Given the description of an element on the screen output the (x, y) to click on. 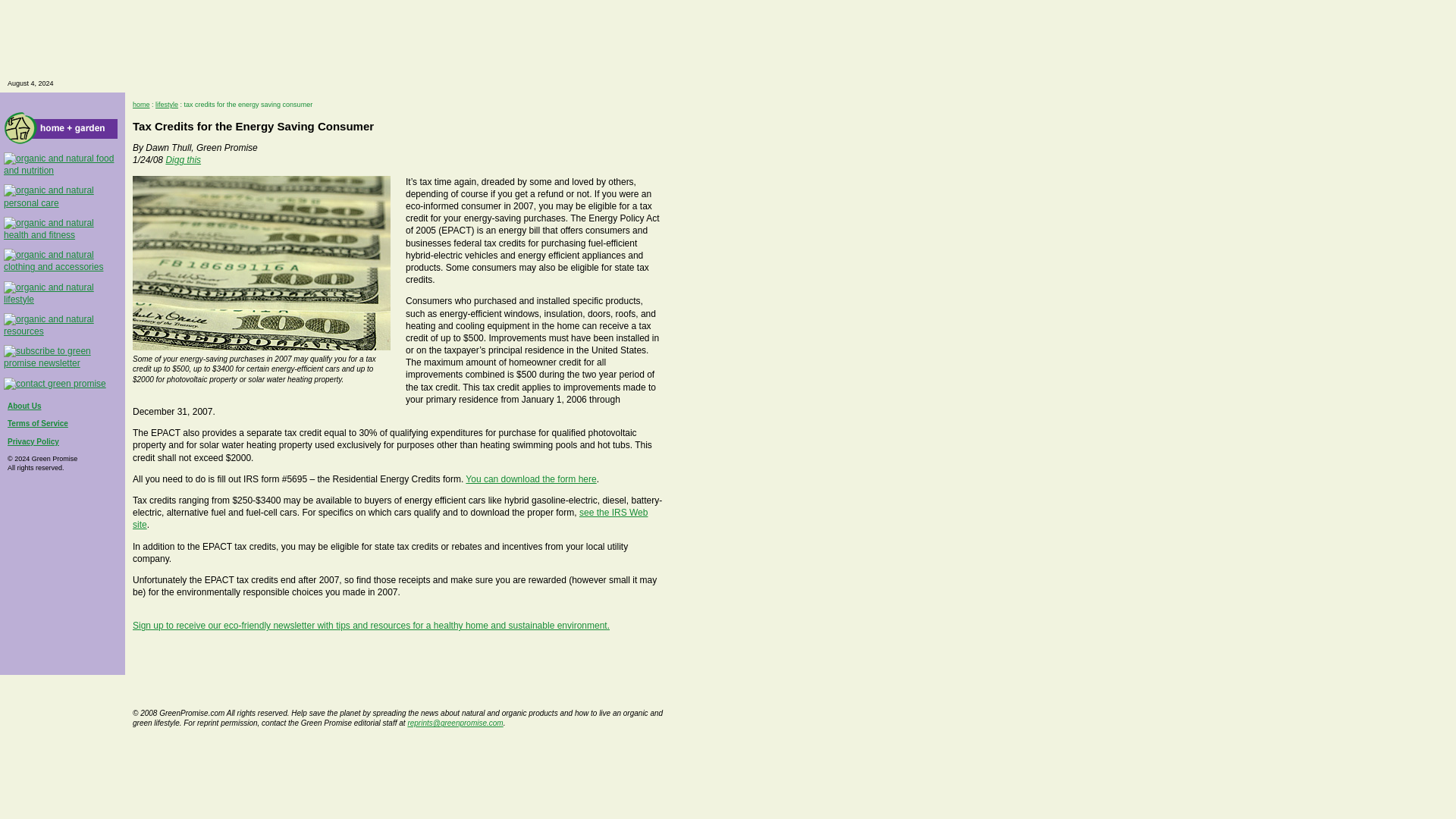
About Us (23, 406)
Terms of Service (37, 423)
lifestyle (166, 104)
Digg this (182, 159)
Privacy Policy (33, 441)
home (140, 104)
You can download the form here (530, 479)
see the IRS Web site (389, 517)
